Given the description of an element on the screen output the (x, y) to click on. 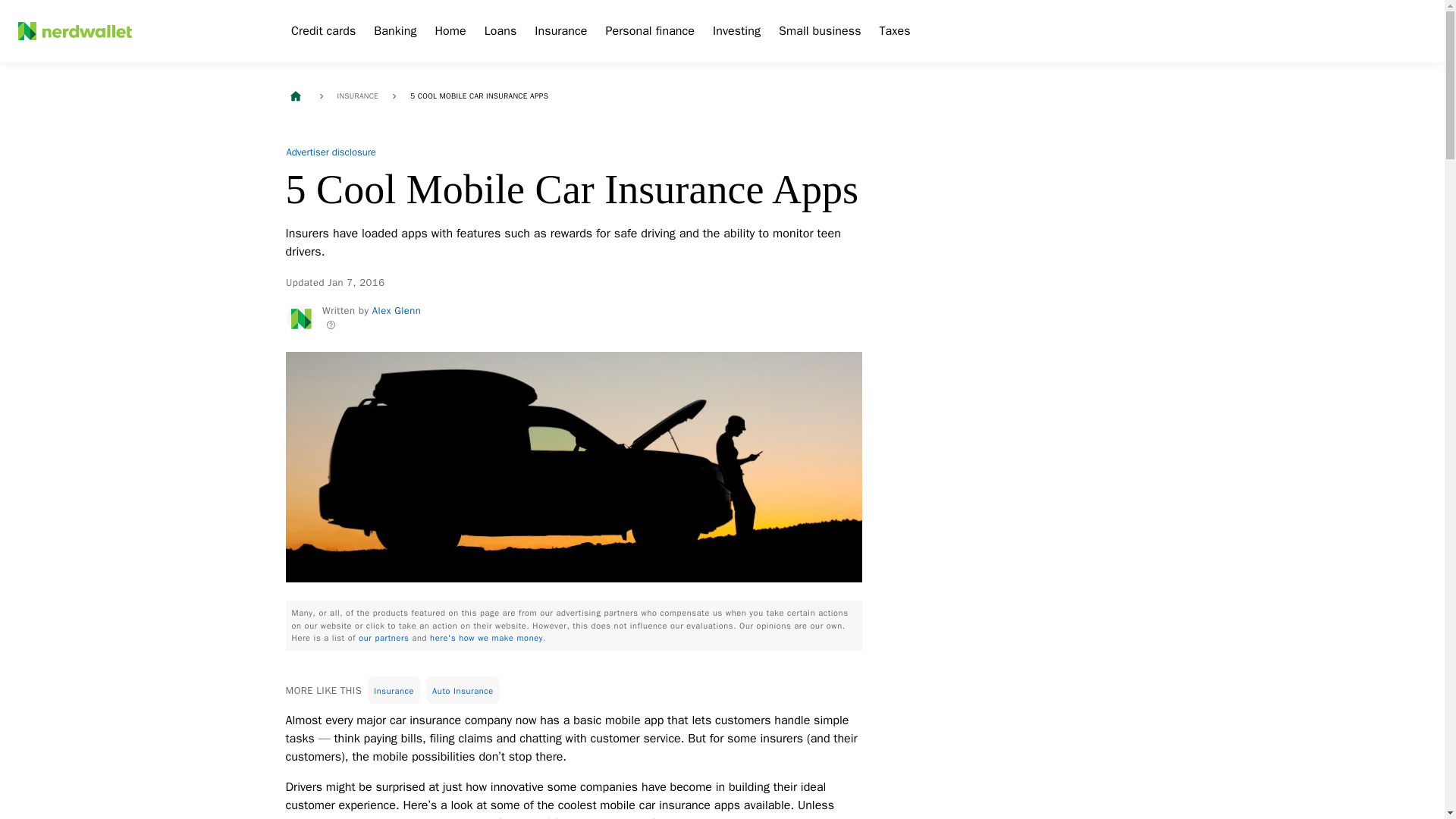
5 Cool Mobile Car Insurance Apps (479, 95)
Back to NerdWallet homepage (294, 96)
Advertiser Disclosure (330, 152)
